Given the description of an element on the screen output the (x, y) to click on. 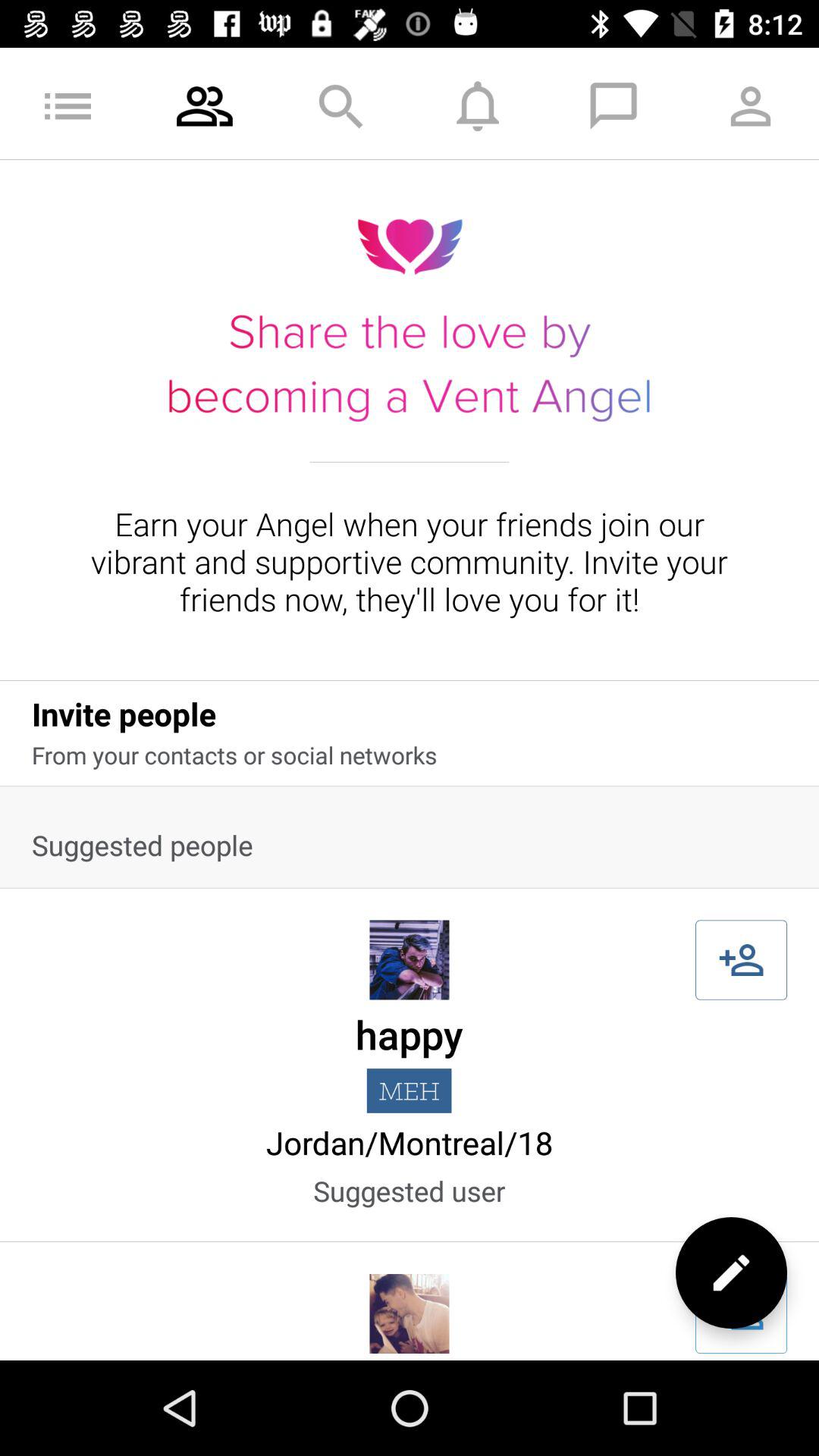
start entry (741, 1313)
